Given the description of an element on the screen output the (x, y) to click on. 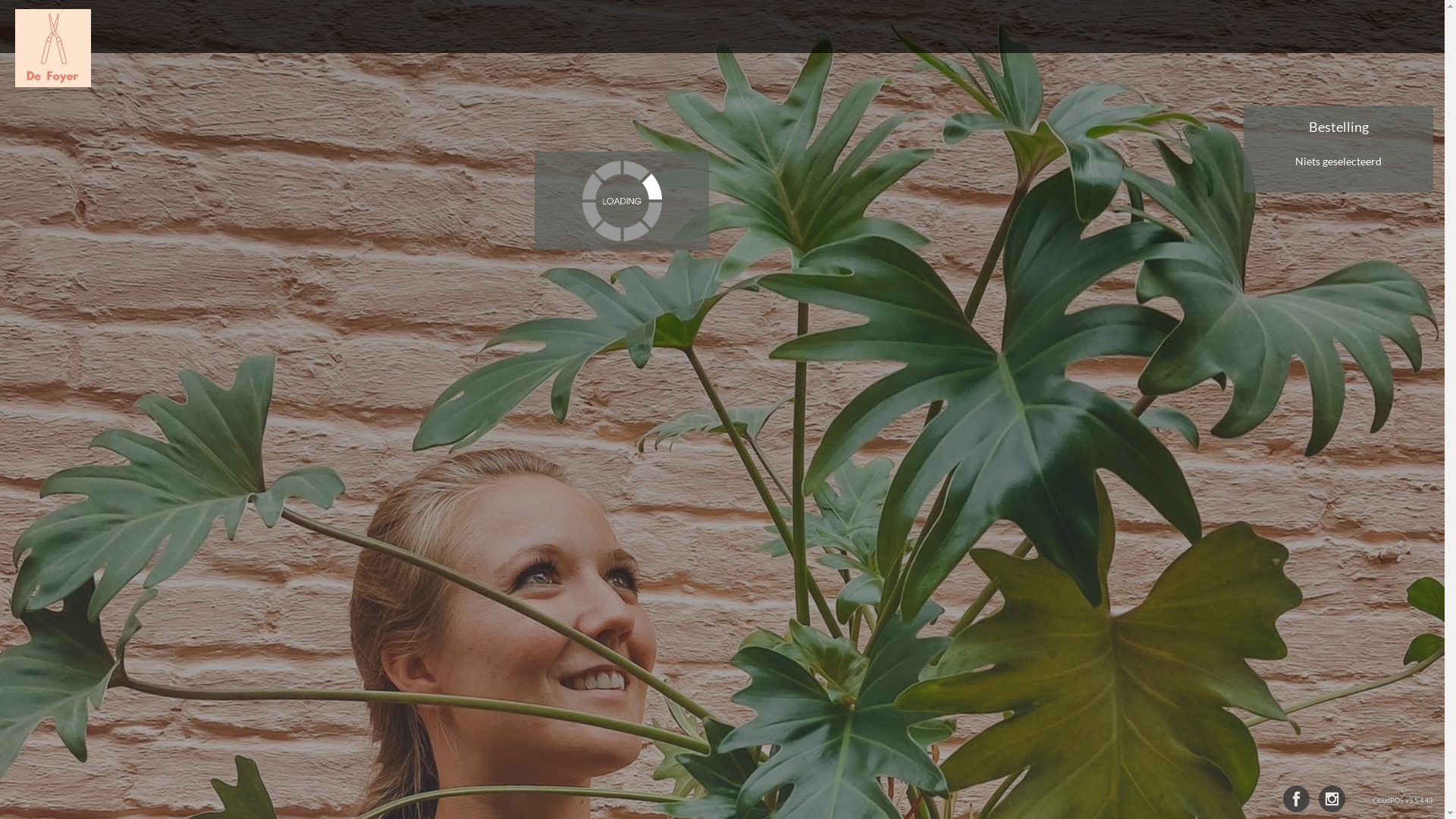
CloudPOS v3.5.4.43 Element type: text (1402, 797)
